Given the description of an element on the screen output the (x, y) to click on. 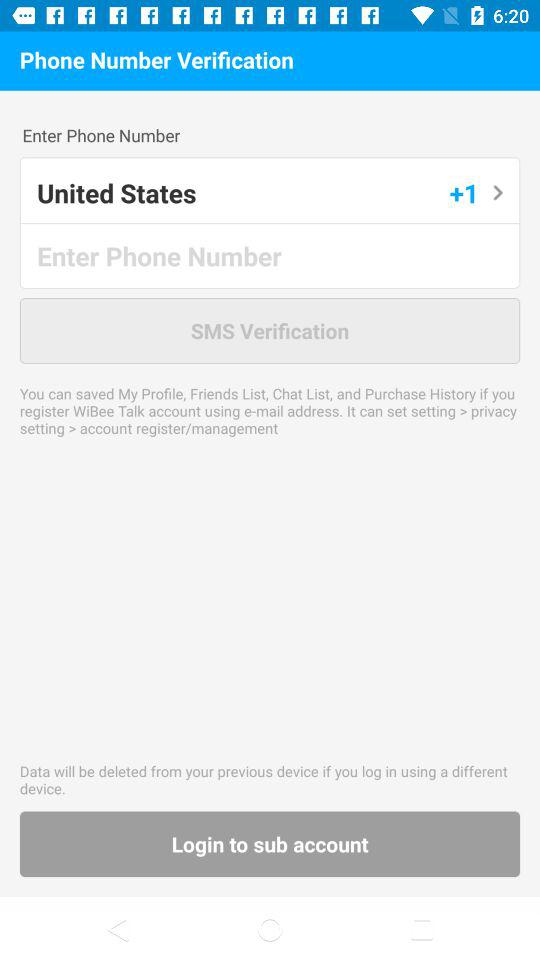
jump to sms verification (269, 330)
